Given the description of an element on the screen output the (x, y) to click on. 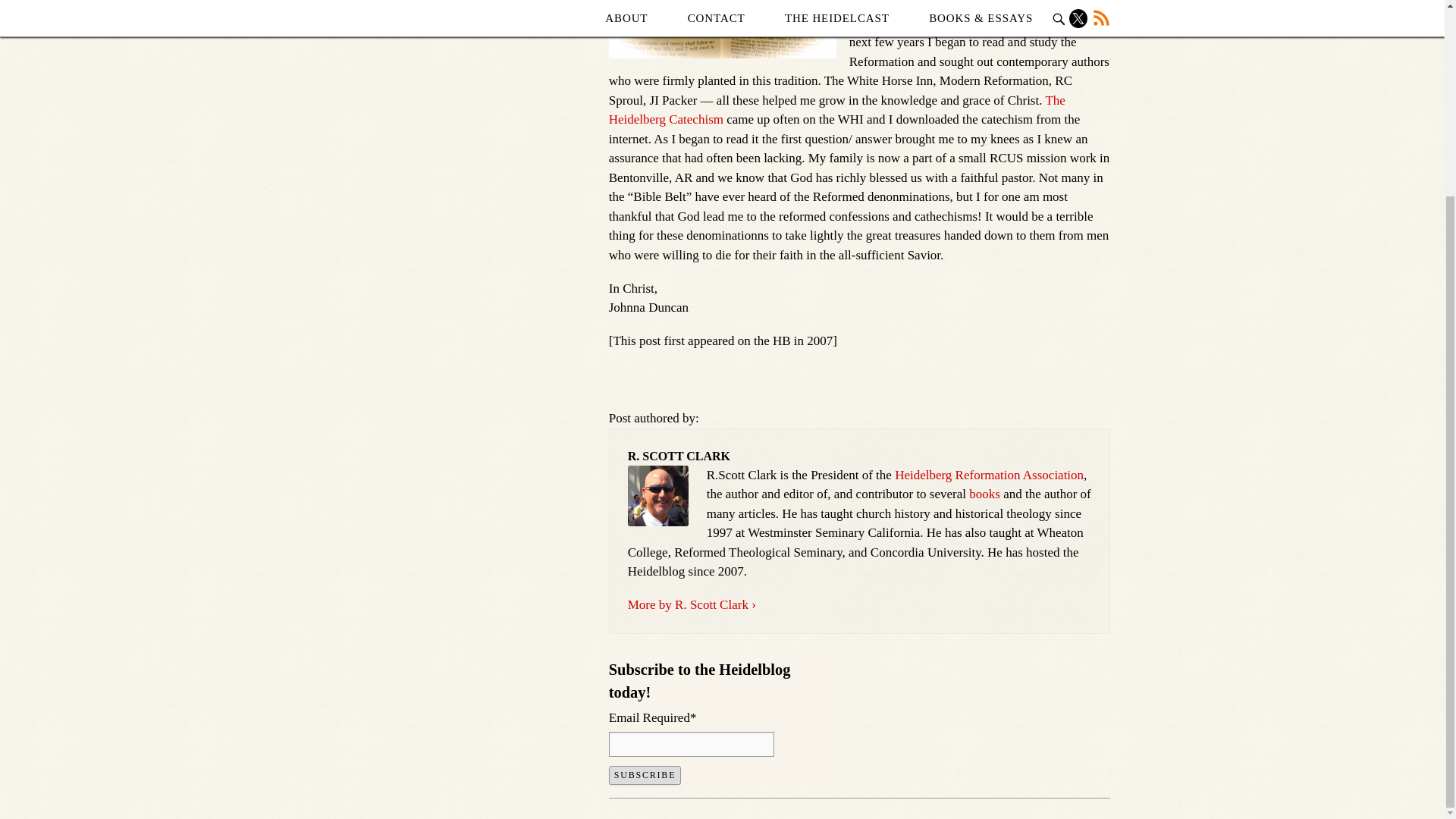
The Heidelberg Catechism (836, 110)
Subscribe (644, 774)
Subscribe (644, 774)
books (984, 493)
Heidelberg Reformation Association (989, 474)
